Given the description of an element on the screen output the (x, y) to click on. 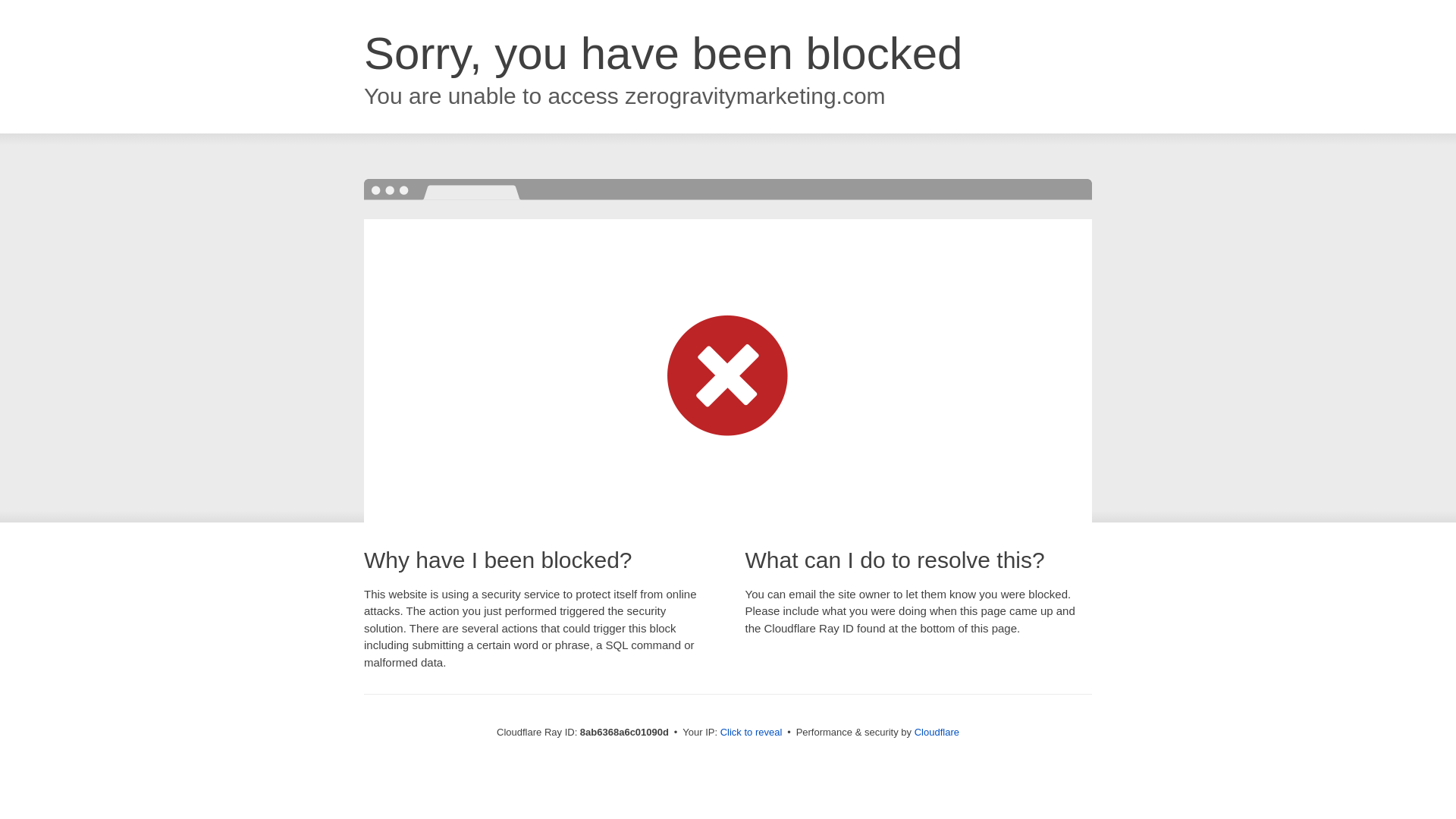
Click to reveal (751, 732)
Cloudflare (936, 731)
